Given the description of an element on the screen output the (x, y) to click on. 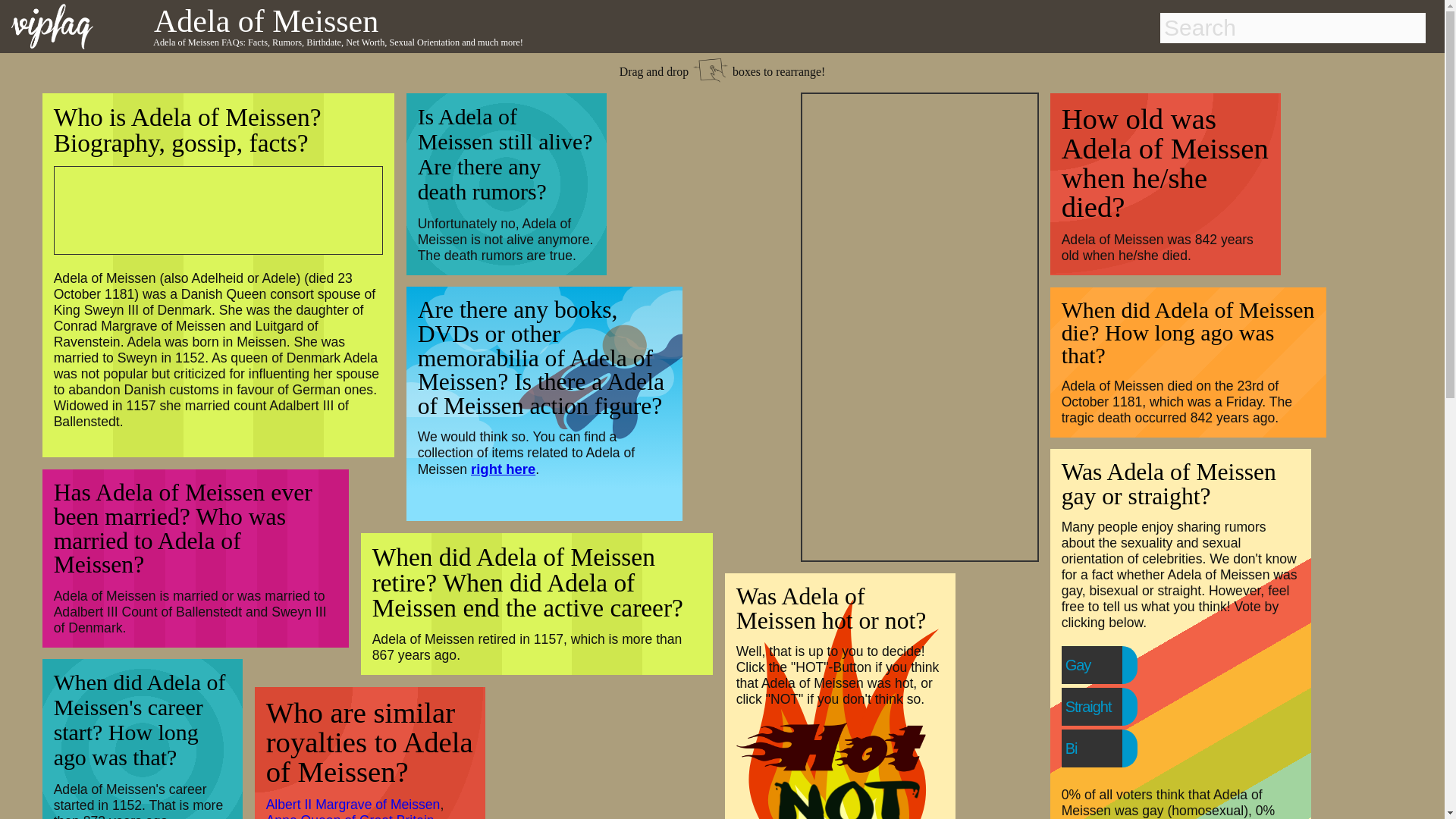
Advertisement (209, 208)
Albert II Margrave of Meissen (353, 804)
right here (502, 468)
Straight (1118, 706)
Anne Queen of Great Britain (349, 816)
Bi (1101, 748)
Gay (1108, 664)
